Given the description of an element on the screen output the (x, y) to click on. 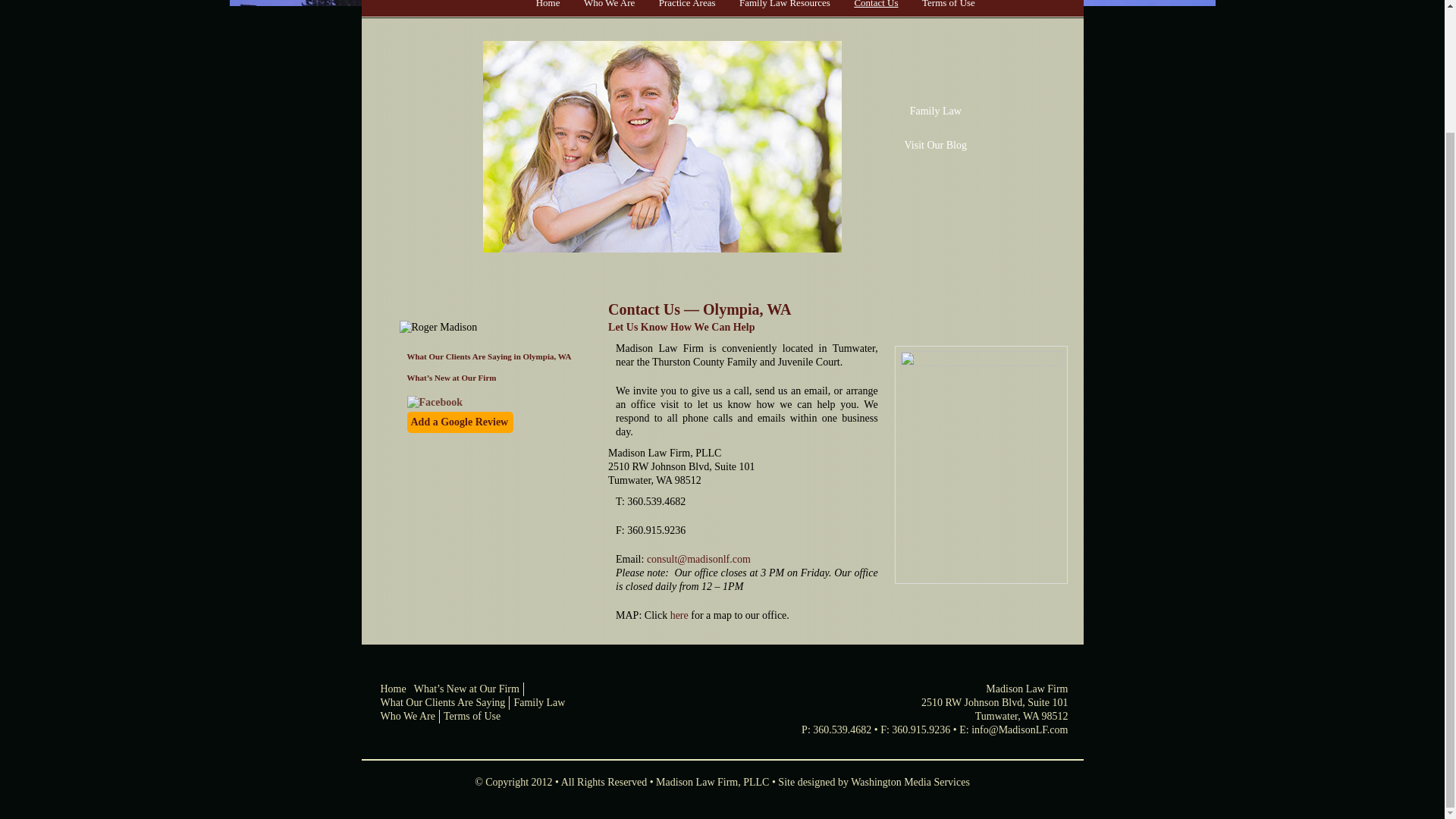
Terms of Use (948, 9)
 Facebook (434, 402)
Who We Are (609, 9)
Practice Areas (686, 9)
Contact Us (877, 9)
Family Law Resources (783, 9)
Home (548, 9)
